Given the description of an element on the screen output the (x, y) to click on. 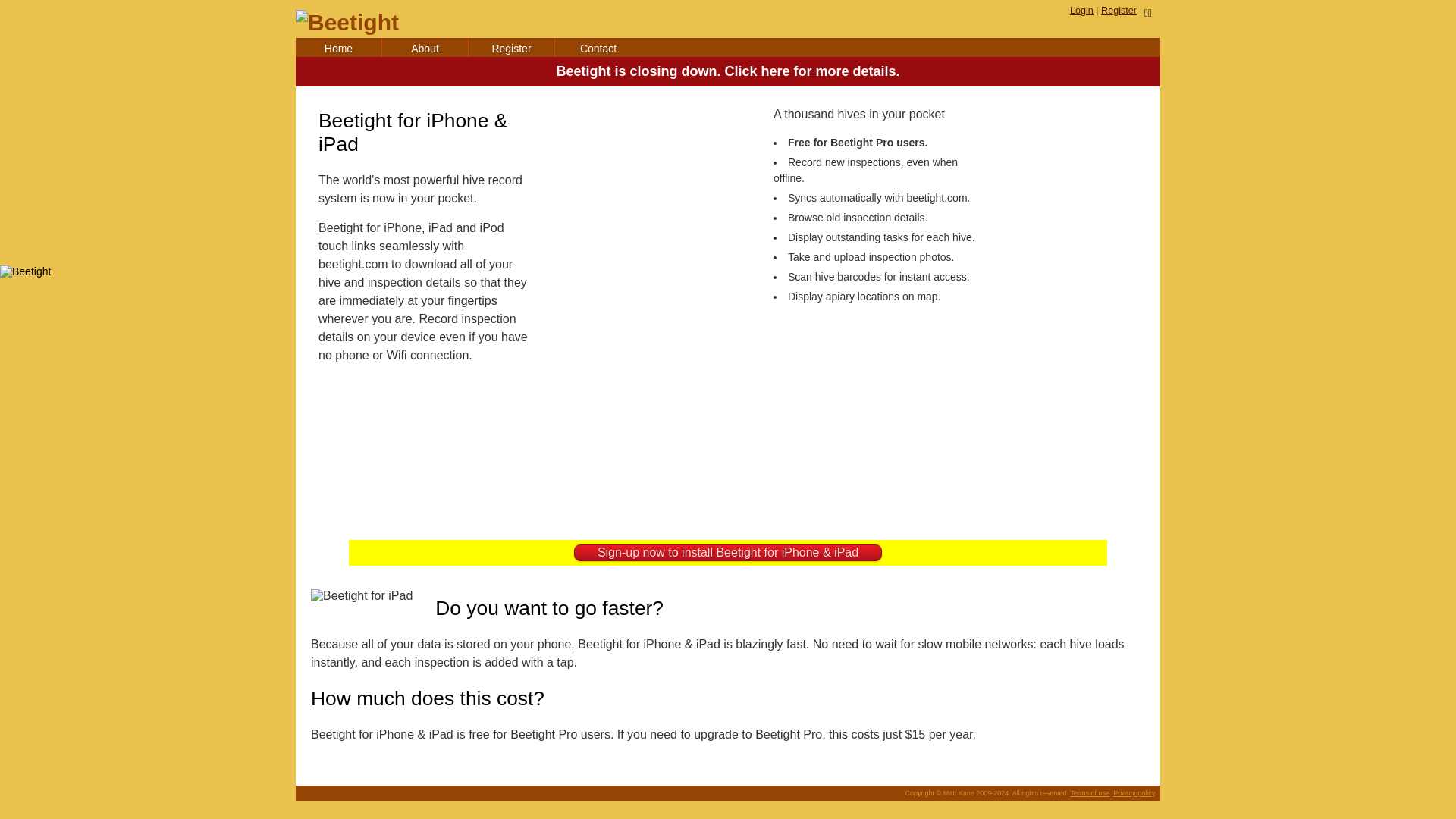
Privacy policy (1133, 792)
Register (511, 46)
Register (1118, 9)
Contact (598, 46)
Login (1081, 9)
Terms of use (1089, 792)
Beetight is closing down. Click here for more details. (727, 71)
Login (1081, 9)
Home (338, 46)
About (424, 46)
